Given the description of an element on the screen output the (x, y) to click on. 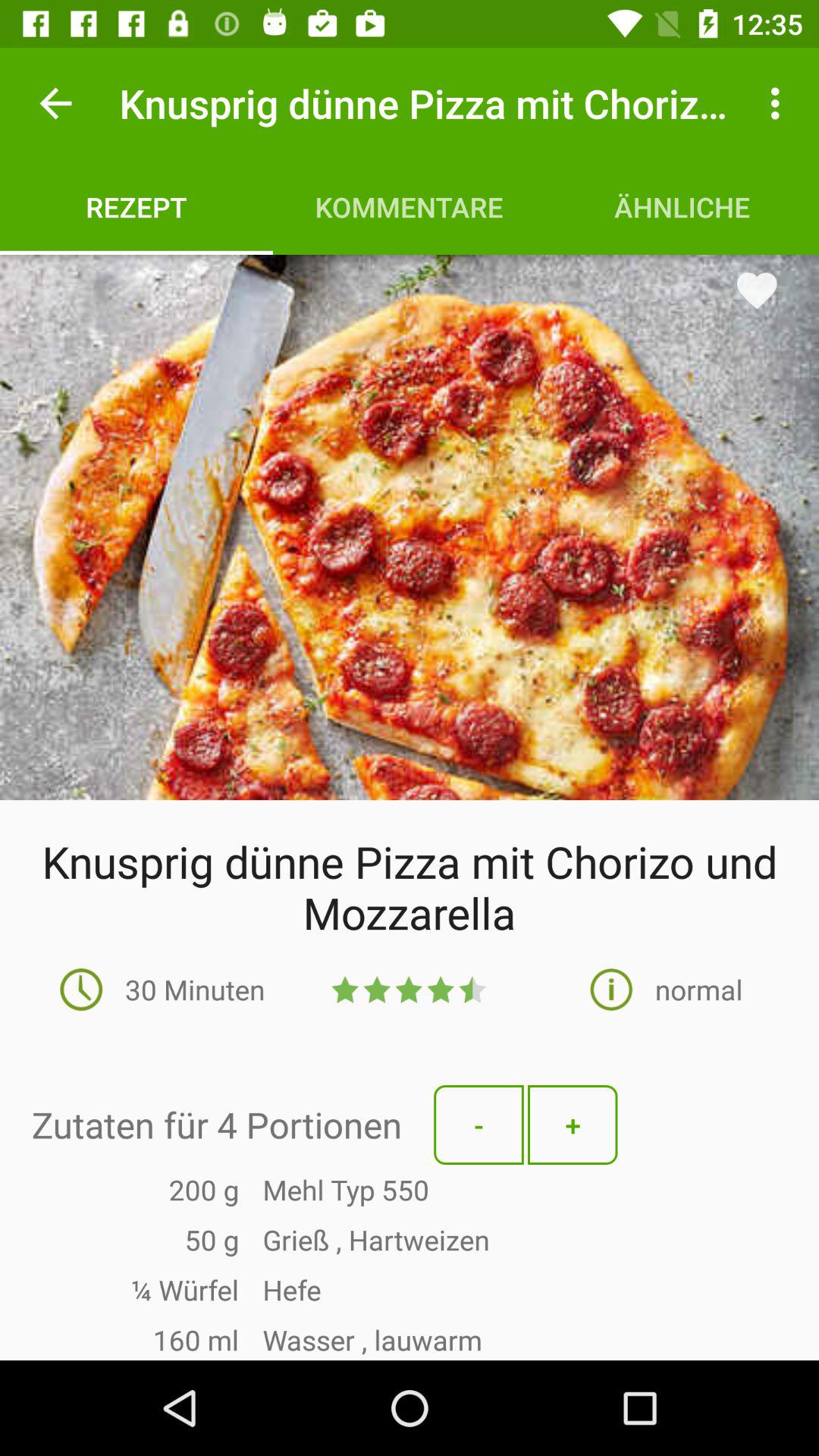
select the item above rezept item (55, 103)
